Given the description of an element on the screen output the (x, y) to click on. 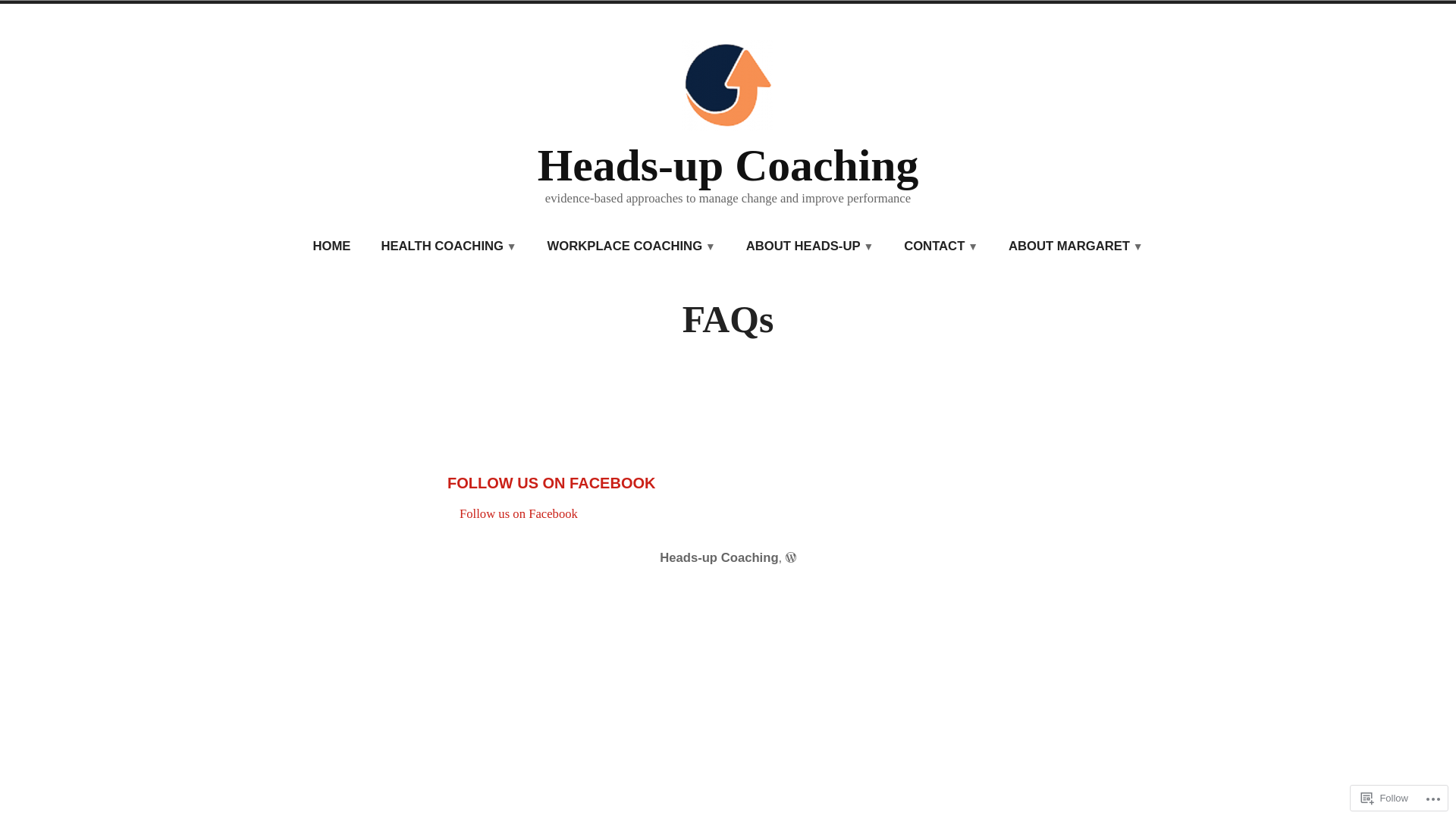
Heads-up Coaching Element type: text (728, 165)
WORKPLACE COACHING Element type: text (631, 247)
ABOUT MARGARET Element type: text (1075, 247)
Heads-up Coaching Element type: text (718, 557)
ABOUT HEADS-UP Element type: text (809, 247)
Create a website or blog at WordPress.com Element type: hover (790, 557)
CONTACT Element type: text (940, 247)
Follow Element type: text (1384, 797)
HEALTH COACHING Element type: text (448, 247)
Follow us on Facebook Element type: text (518, 513)
FOLLOW US ON FACEBOOK Element type: text (551, 482)
HOME Element type: text (331, 247)
